Given the description of an element on the screen output the (x, y) to click on. 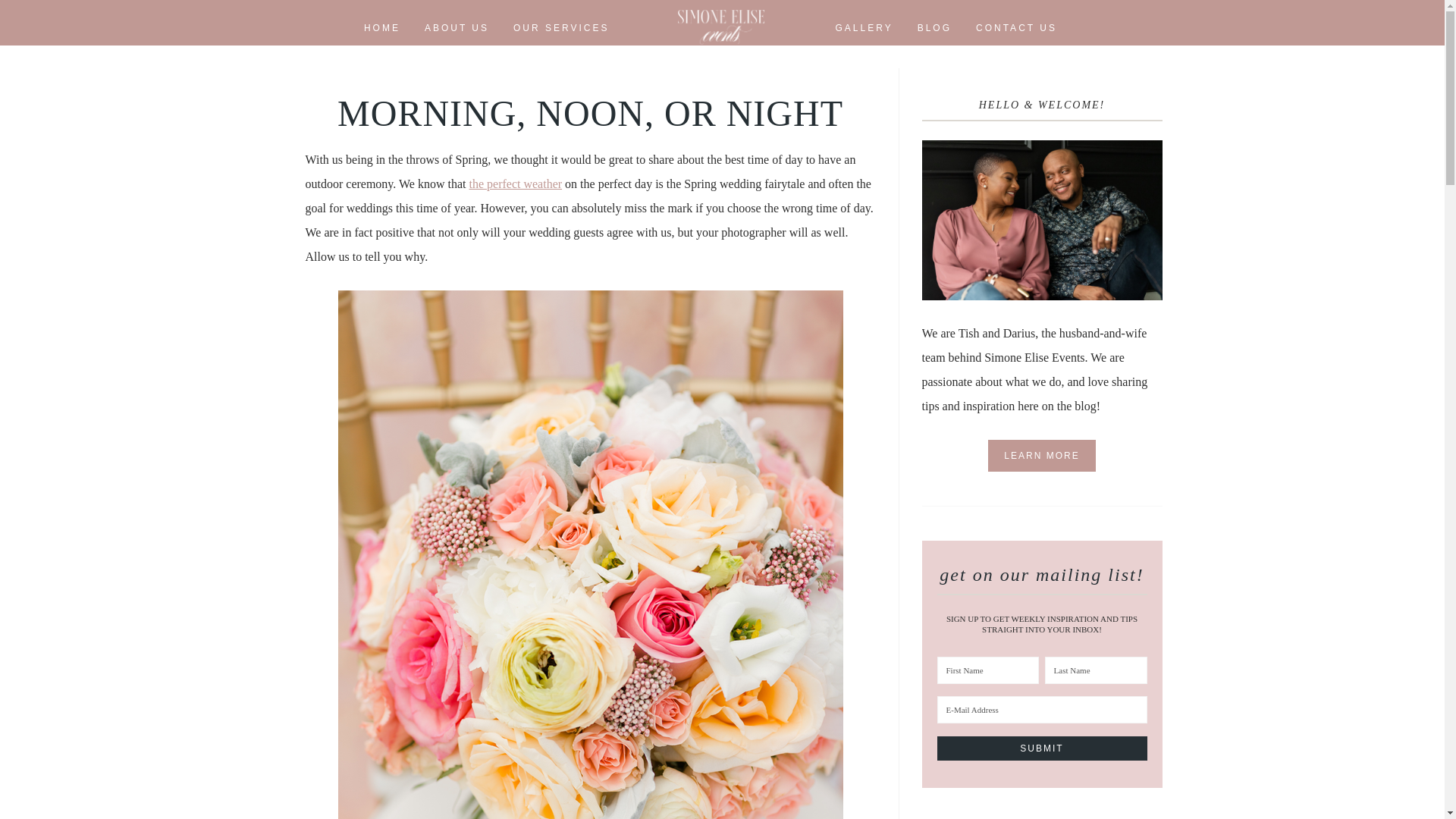
OUR SERVICES (561, 30)
CONTACT US (1016, 30)
ABOUT US (456, 30)
BLOG (934, 30)
SUBMIT (1042, 748)
LEARN MORE (1041, 455)
SIMONE ELISE EVENTS (721, 26)
the perfect weather (515, 183)
GALLERY (864, 30)
HOME (381, 30)
SUBMIT (1042, 748)
